Given the description of an element on the screen output the (x, y) to click on. 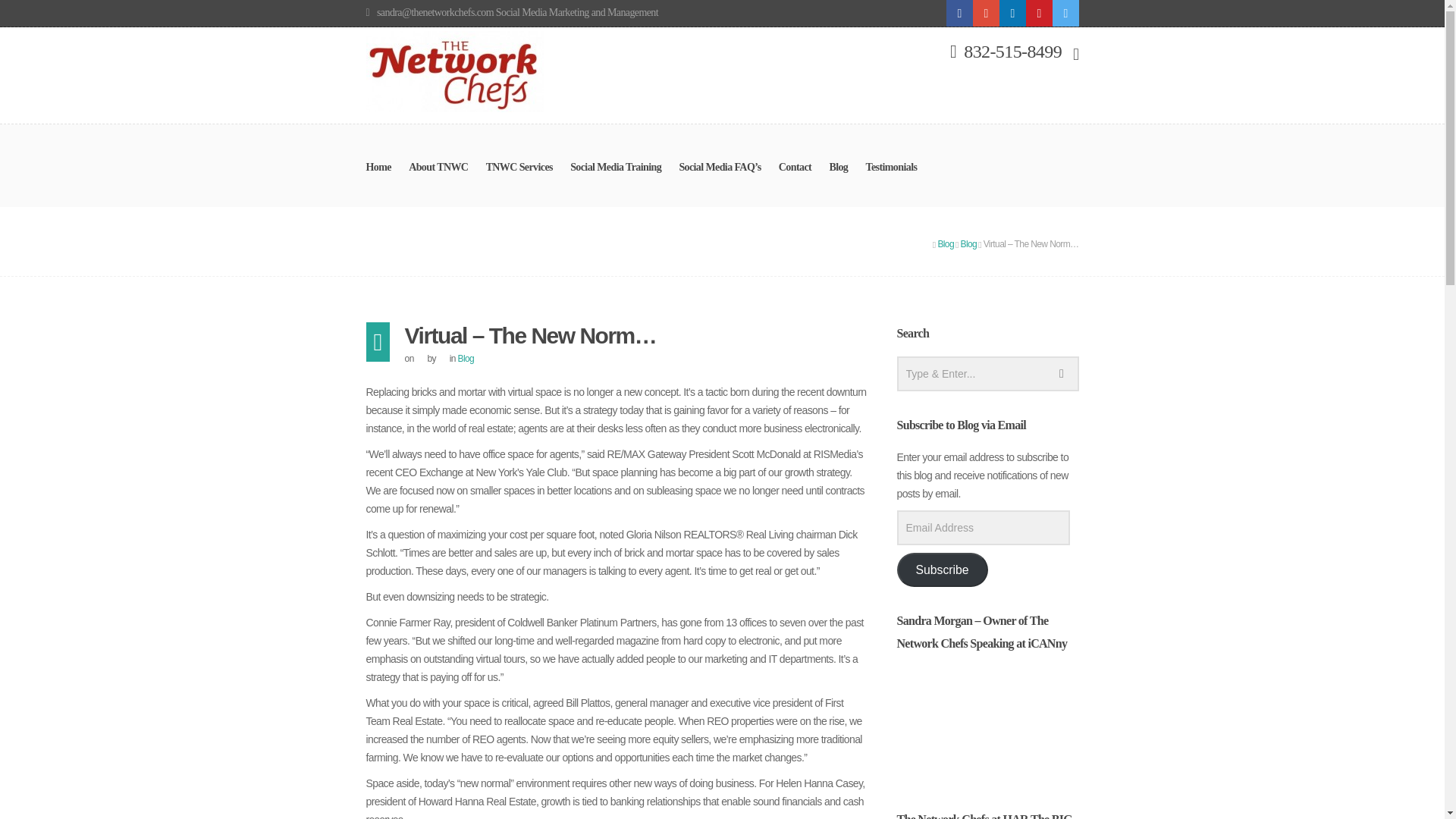
Testimonials (891, 178)
googleplus (985, 13)
TNWC Services (519, 178)
pinterest (1038, 13)
twitter (1065, 13)
About TNWC (438, 178)
Go to the Blog Category archives. (968, 244)
facebook (959, 13)
Blog (466, 357)
Blog (945, 244)
